Given the description of an element on the screen output the (x, y) to click on. 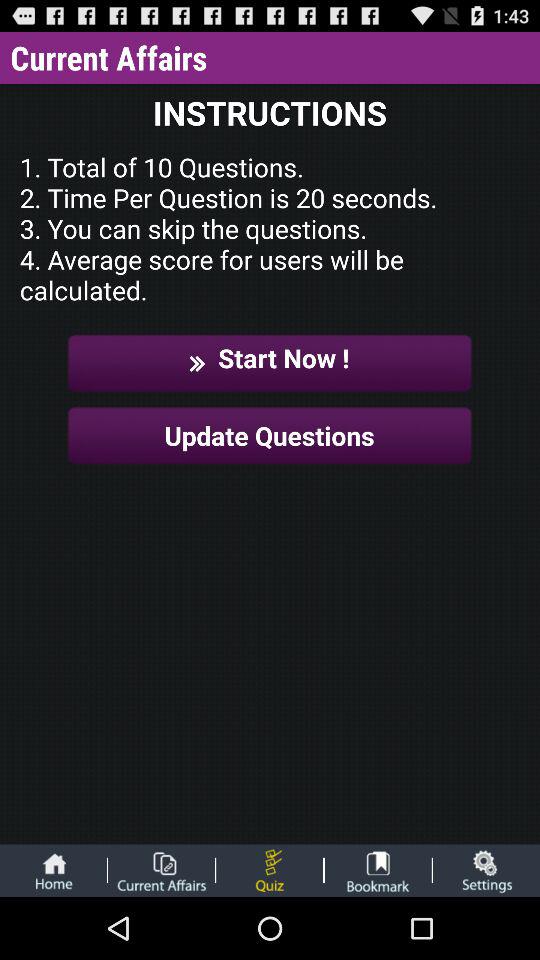
settings (486, 870)
